Given the description of an element on the screen output the (x, y) to click on. 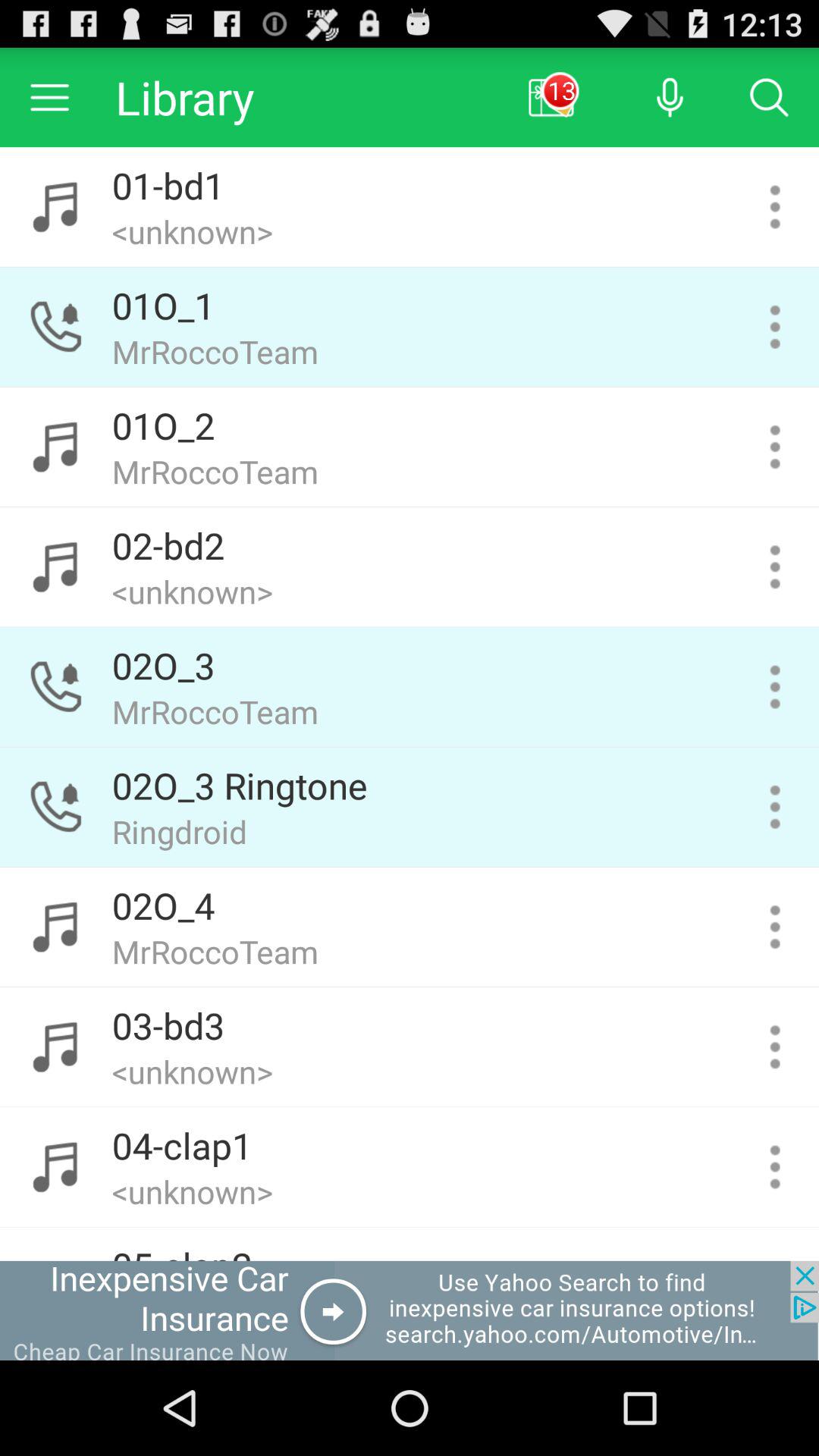
click to more information (775, 926)
